Given the description of an element on the screen output the (x, y) to click on. 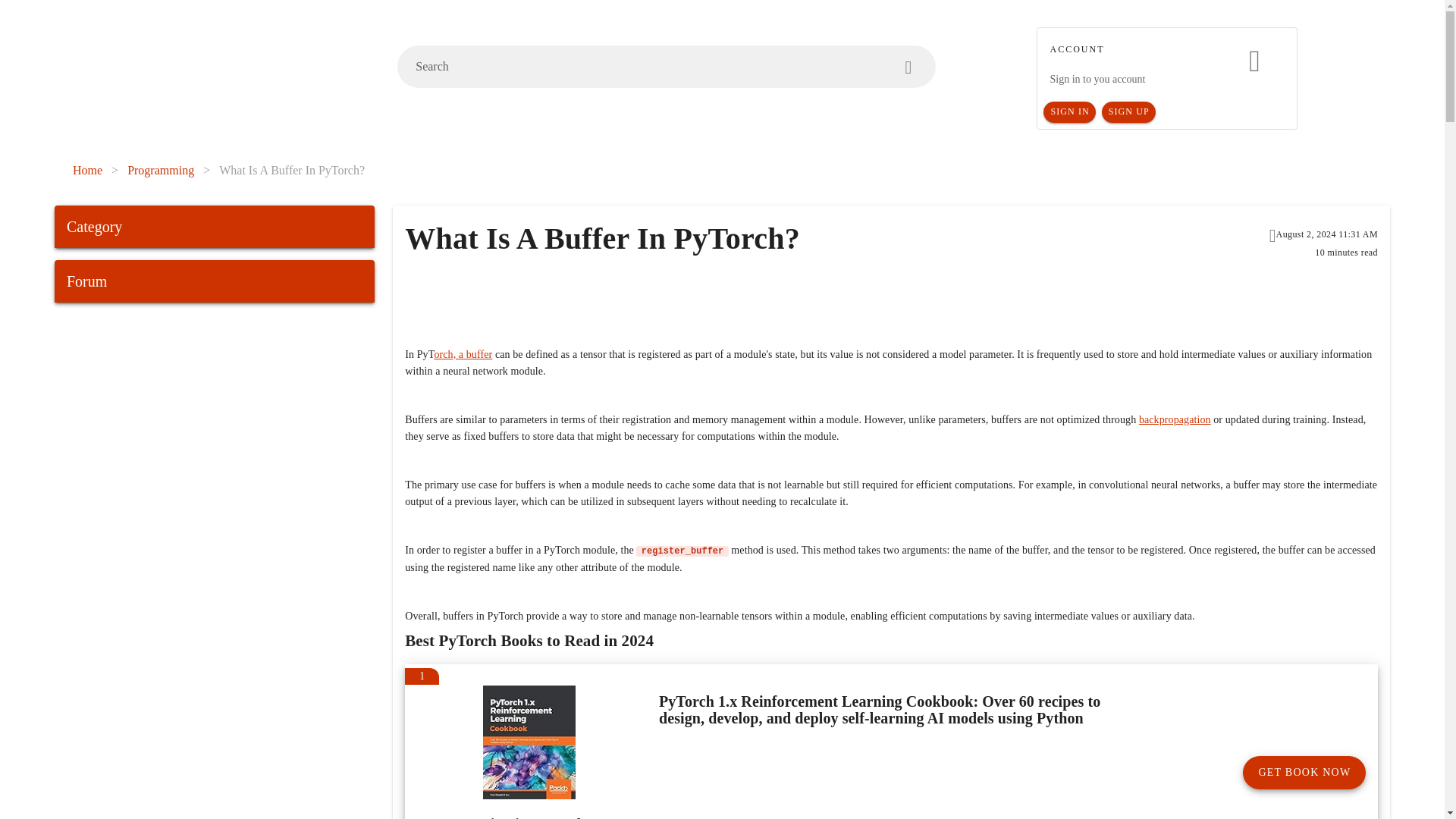
Programming (160, 170)
Home (86, 170)
backpropagation (1174, 419)
GET BOOK NOW (1304, 772)
orch, a buffer (462, 354)
SIGN UP (1129, 111)
SIGN IN (1068, 111)
What Is A Buffer In PyTorch? (292, 170)
